Given the description of an element on the screen output the (x, y) to click on. 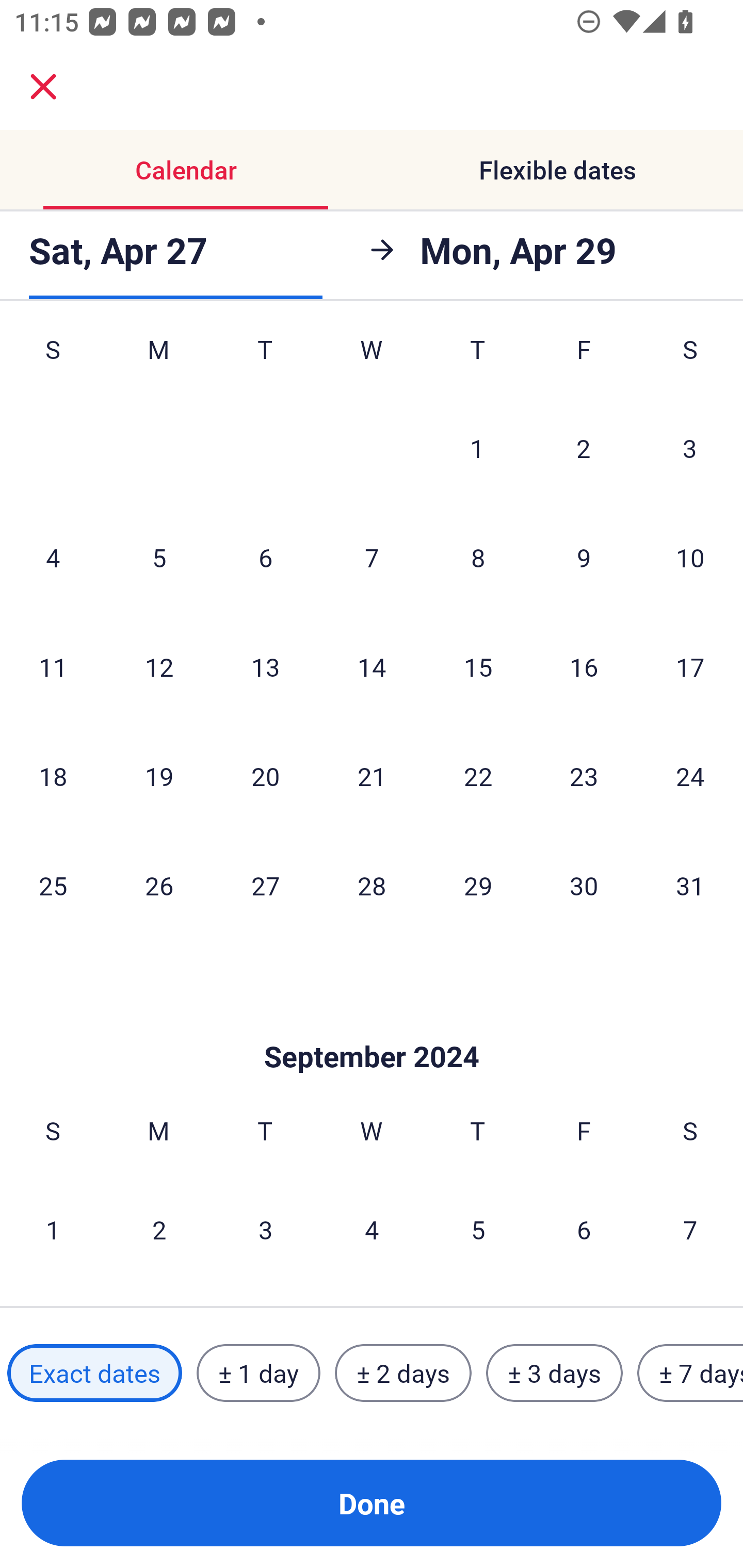
close. (43, 86)
Flexible dates (557, 170)
1 Thursday, August 1, 2024 (477, 447)
2 Friday, August 2, 2024 (583, 447)
3 Saturday, August 3, 2024 (689, 447)
4 Sunday, August 4, 2024 (53, 556)
5 Monday, August 5, 2024 (159, 556)
6 Tuesday, August 6, 2024 (265, 556)
7 Wednesday, August 7, 2024 (371, 556)
8 Thursday, August 8, 2024 (477, 556)
9 Friday, August 9, 2024 (584, 556)
10 Saturday, August 10, 2024 (690, 556)
11 Sunday, August 11, 2024 (53, 666)
12 Monday, August 12, 2024 (159, 666)
13 Tuesday, August 13, 2024 (265, 666)
14 Wednesday, August 14, 2024 (371, 666)
15 Thursday, August 15, 2024 (477, 666)
16 Friday, August 16, 2024 (584, 666)
17 Saturday, August 17, 2024 (690, 666)
18 Sunday, August 18, 2024 (53, 775)
19 Monday, August 19, 2024 (159, 775)
20 Tuesday, August 20, 2024 (265, 775)
21 Wednesday, August 21, 2024 (371, 775)
22 Thursday, August 22, 2024 (477, 775)
23 Friday, August 23, 2024 (584, 775)
24 Saturday, August 24, 2024 (690, 775)
25 Sunday, August 25, 2024 (53, 884)
26 Monday, August 26, 2024 (159, 884)
27 Tuesday, August 27, 2024 (265, 884)
28 Wednesday, August 28, 2024 (371, 884)
29 Thursday, August 29, 2024 (477, 884)
30 Friday, August 30, 2024 (584, 884)
31 Saturday, August 31, 2024 (690, 884)
Skip to Done (371, 1026)
1 Sunday, September 1, 2024 (53, 1229)
2 Monday, September 2, 2024 (159, 1229)
3 Tuesday, September 3, 2024 (265, 1229)
4 Wednesday, September 4, 2024 (371, 1229)
5 Thursday, September 5, 2024 (477, 1229)
6 Friday, September 6, 2024 (584, 1229)
7 Saturday, September 7, 2024 (690, 1229)
Exact dates (94, 1372)
± 1 day (258, 1372)
± 2 days (403, 1372)
± 3 days (553, 1372)
± 7 days (690, 1372)
Done (371, 1502)
